Given the description of an element on the screen output the (x, y) to click on. 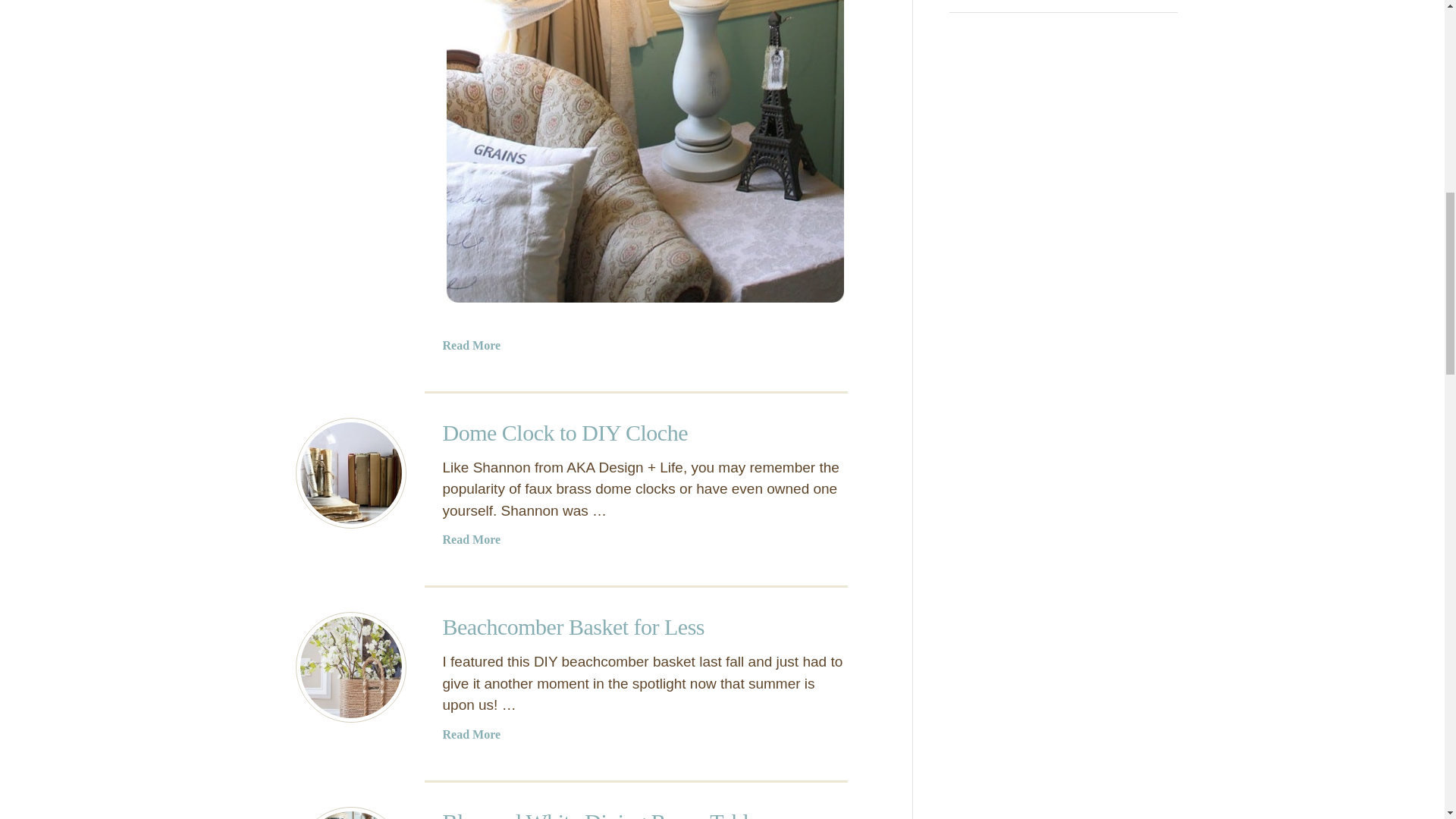
Dome Clock to DIY Cloche (350, 472)
Beachcomber Basket for Less (350, 666)
lamp makeover (644, 153)
Blue and White Dining Room Table (350, 812)
